Given the description of an element on the screen output the (x, y) to click on. 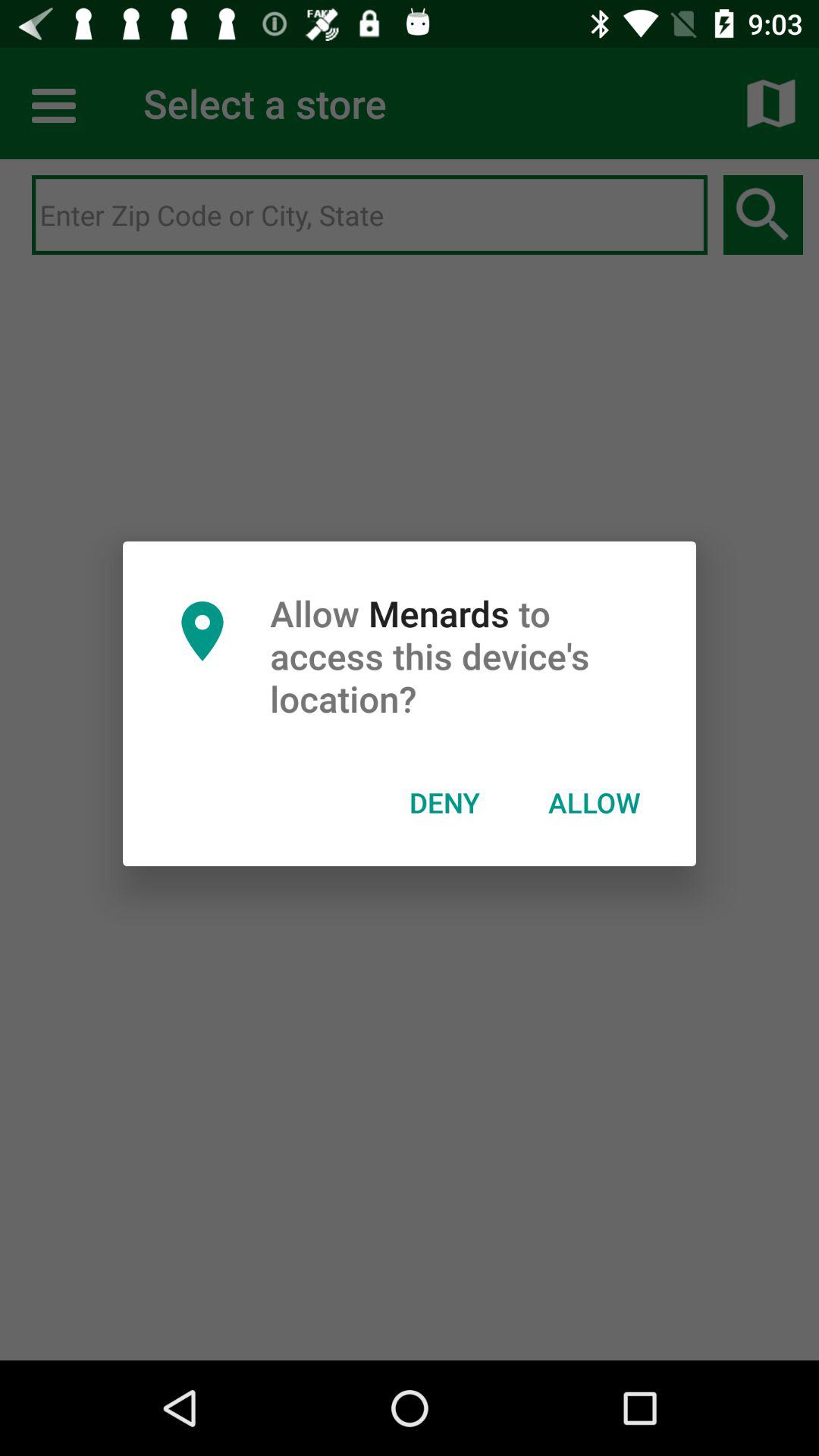
more (55, 103)
